Given the description of an element on the screen output the (x, y) to click on. 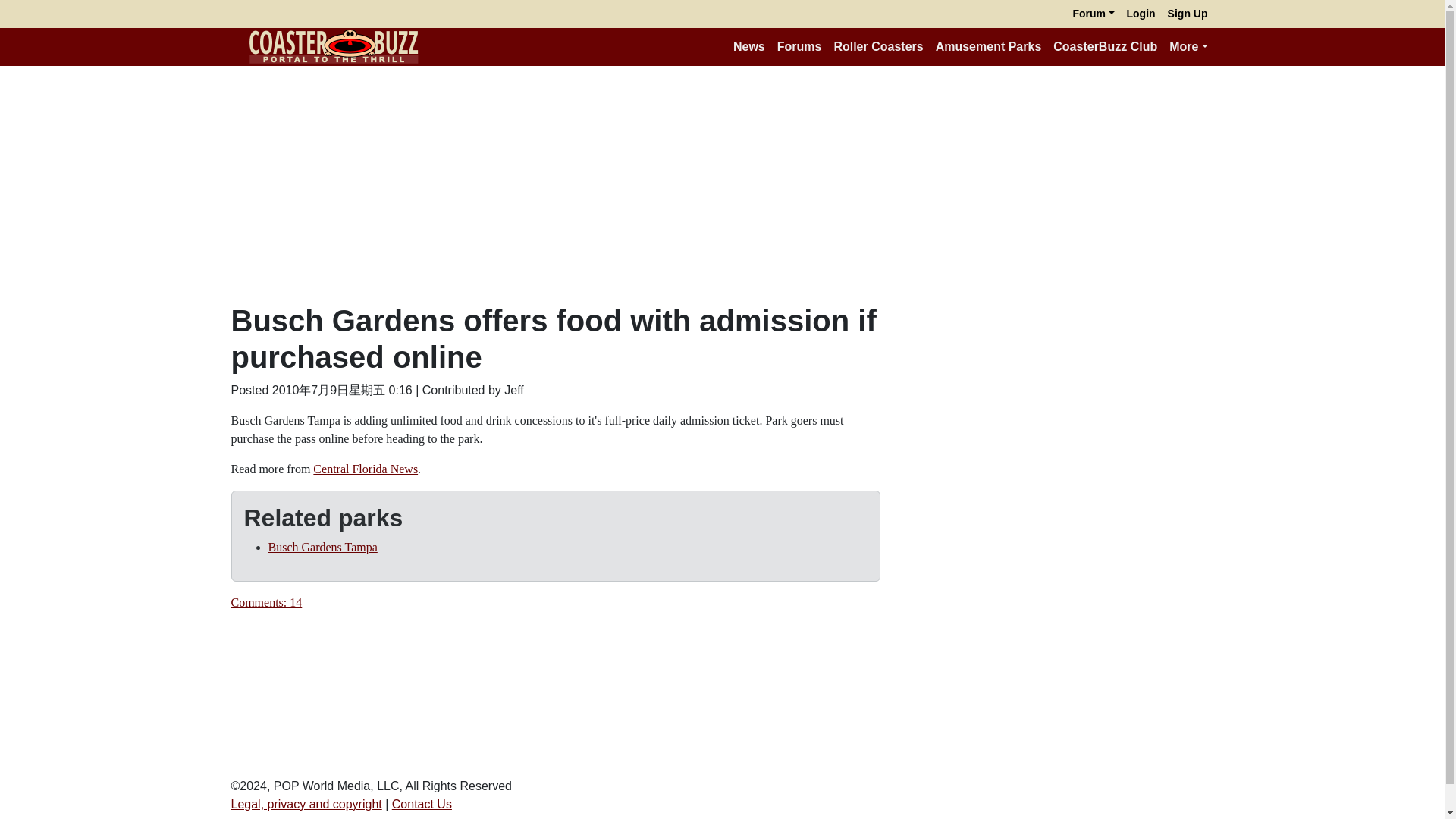
Forums (799, 46)
Central Florida News (365, 468)
Legal, privacy and copyright (305, 803)
Comments: 14 (265, 602)
CoasterBuzz Club (1104, 46)
Busch Gardens Tampa (322, 546)
Roller Coasters (877, 46)
Advertisement (1055, 408)
Advertisement (1055, 633)
